Given the description of an element on the screen output the (x, y) to click on. 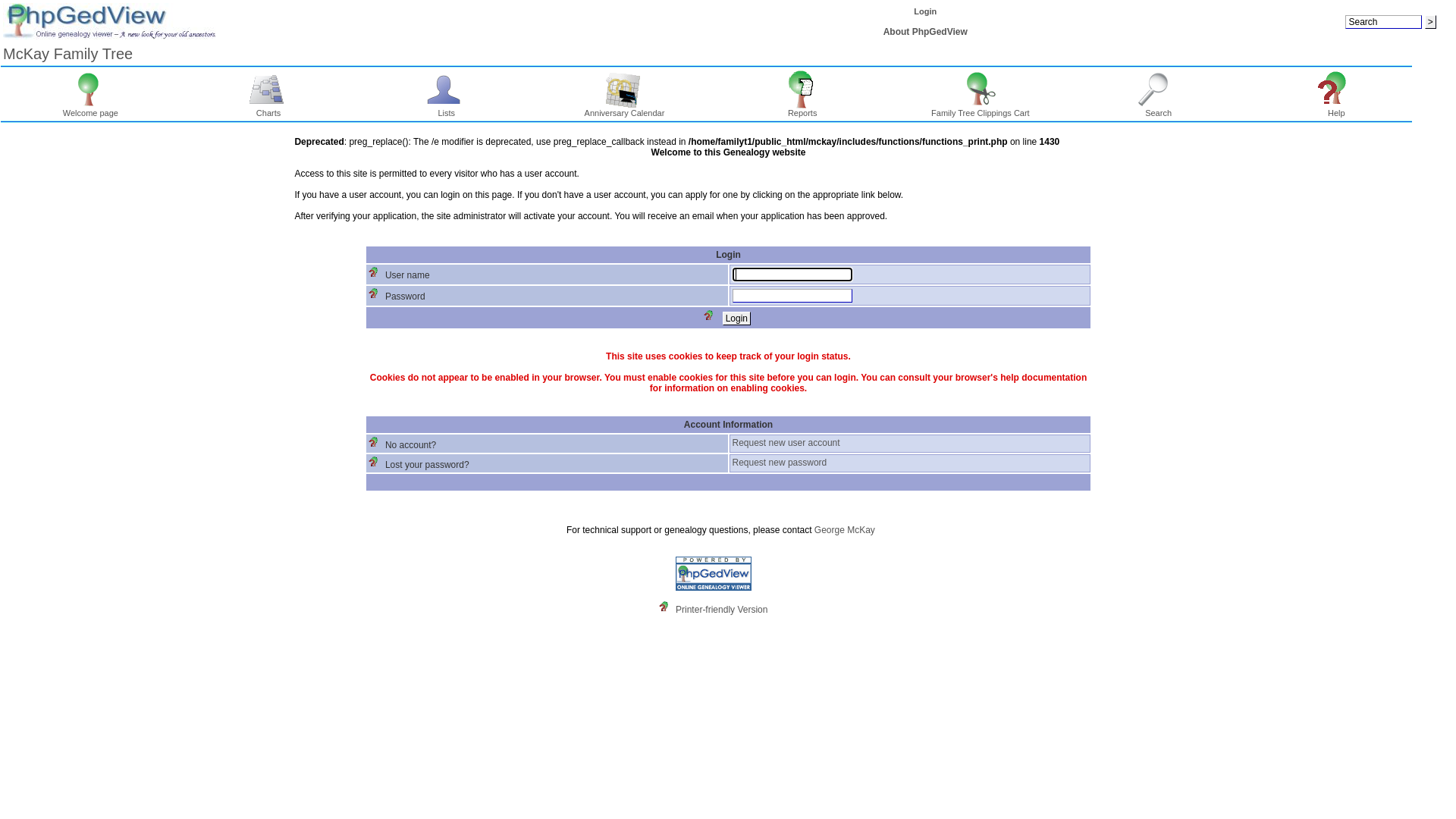
George McKay Element type: text (844, 529)
Charts Element type: text (268, 108)
Login Element type: text (736, 318)
Anniversary Calendar Element type: hover (624, 89)
Help Element type: hover (1336, 89)
Family Tree Clippings Cart Element type: hover (980, 89)
Request new password Element type: text (779, 462)
Information about: Element type: hover (666, 609)
Reports Element type: text (802, 108)
McKay Family Tree Element type: text (67, 53)
Information about: Request new user account Element type: hover (376, 444)
Login Element type: text (924, 10)
Anniversary Calendar Element type: text (624, 108)
Information about: Lost your password? Element type: hover (376, 464)
Welcome page Element type: text (90, 108)
PhpGedView Element type: hover (713, 573)
Lists Element type: hover (445, 89)
Lists Element type: text (445, 108)
Welcome page Element type: hover (90, 89)
About PhpGedView Element type: text (925, 31)
Help Element type: text (1336, 108)
Search Element type: hover (1157, 89)
Information about: User name Element type: hover (376, 274)
Skip to Content Element type: text (16, 138)
Printer-friendly Version Element type: text (721, 609)
> Element type: text (1430, 21)
Information about: Login Element type: hover (711, 318)
Family Tree Clippings Cart Element type: text (980, 108)
Information about: Password Element type: hover (376, 296)
Charts Element type: hover (268, 89)
Request new user account Element type: text (786, 442)
Search Element type: text (1157, 108)
Reports Element type: hover (802, 89)
